Given the description of an element on the screen output the (x, y) to click on. 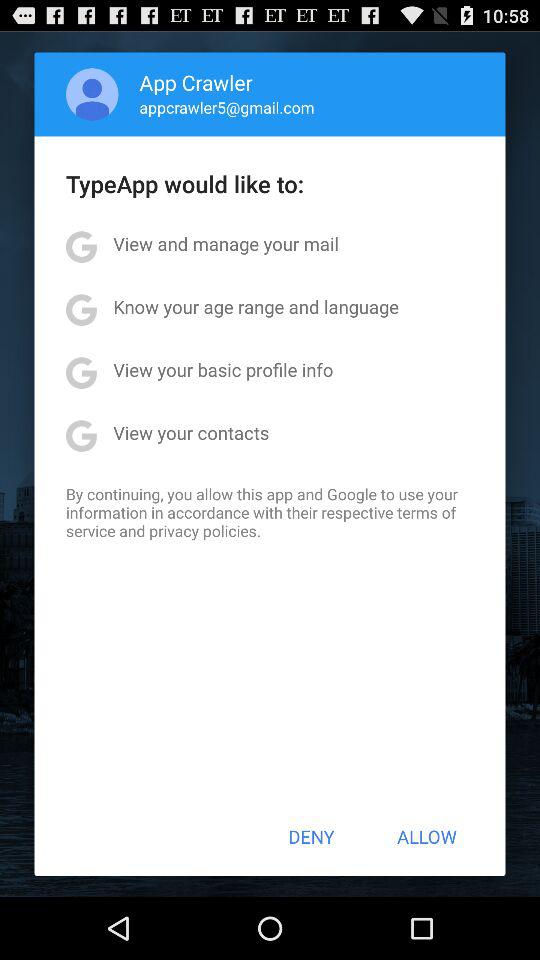
open item below view and manage app (255, 306)
